Given the description of an element on the screen output the (x, y) to click on. 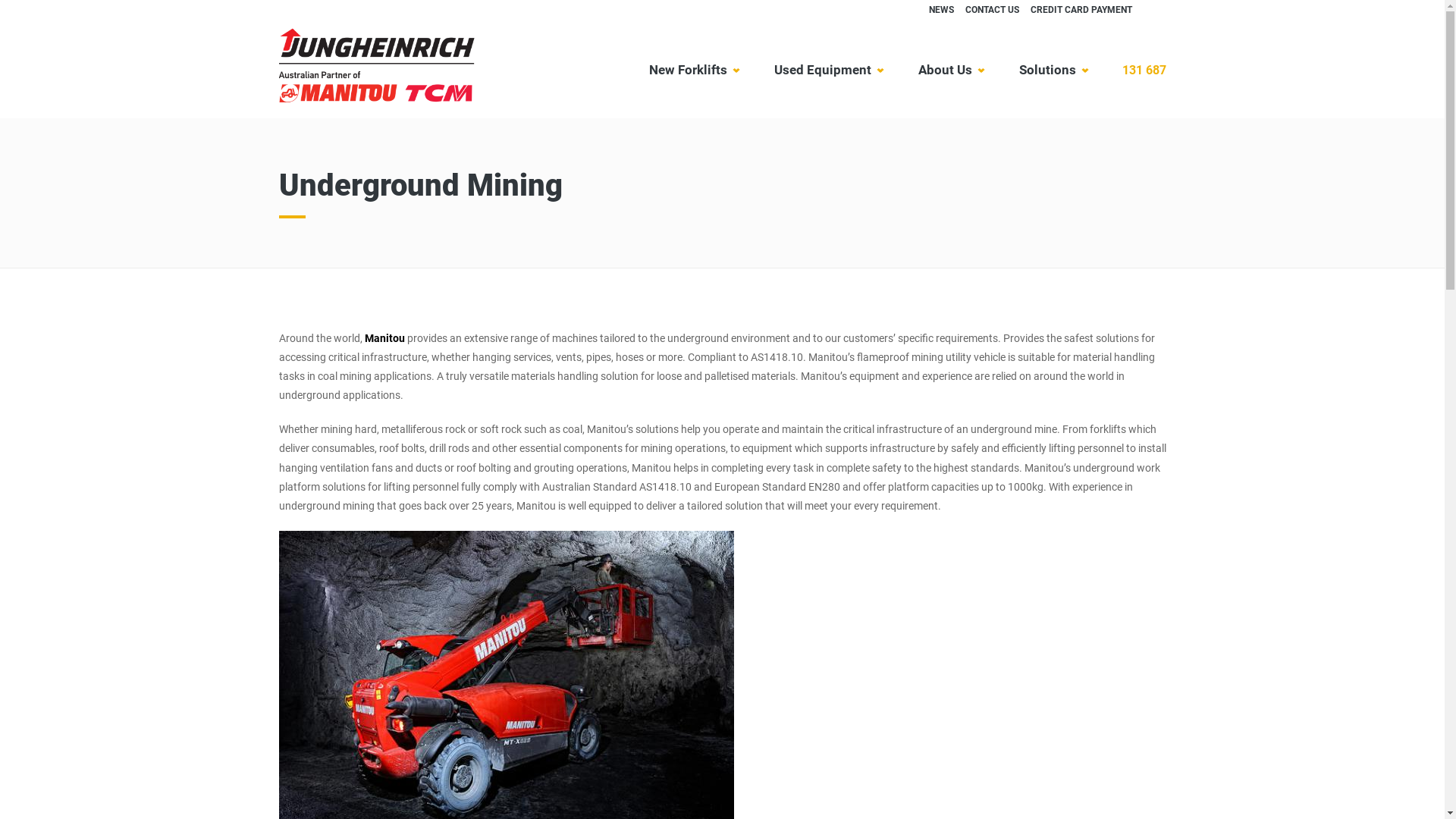
Used Equipment Element type: text (828, 69)
NEWS Element type: text (940, 9)
131 687 Element type: text (1144, 68)
About Us Element type: text (950, 69)
Linkedin Element type: hover (895, 9)
New Forklifts Element type: text (693, 69)
Twitter Element type: hover (872, 9)
CREDIT CARD PAYMENT Element type: text (1081, 9)
Facebook Element type: hover (849, 9)
Manitou Element type: text (384, 338)
Solutions Element type: text (1053, 69)
Jungheinrich Element type: hover (377, 61)
CONTACT US Element type: text (992, 9)
